Given the description of an element on the screen output the (x, y) to click on. 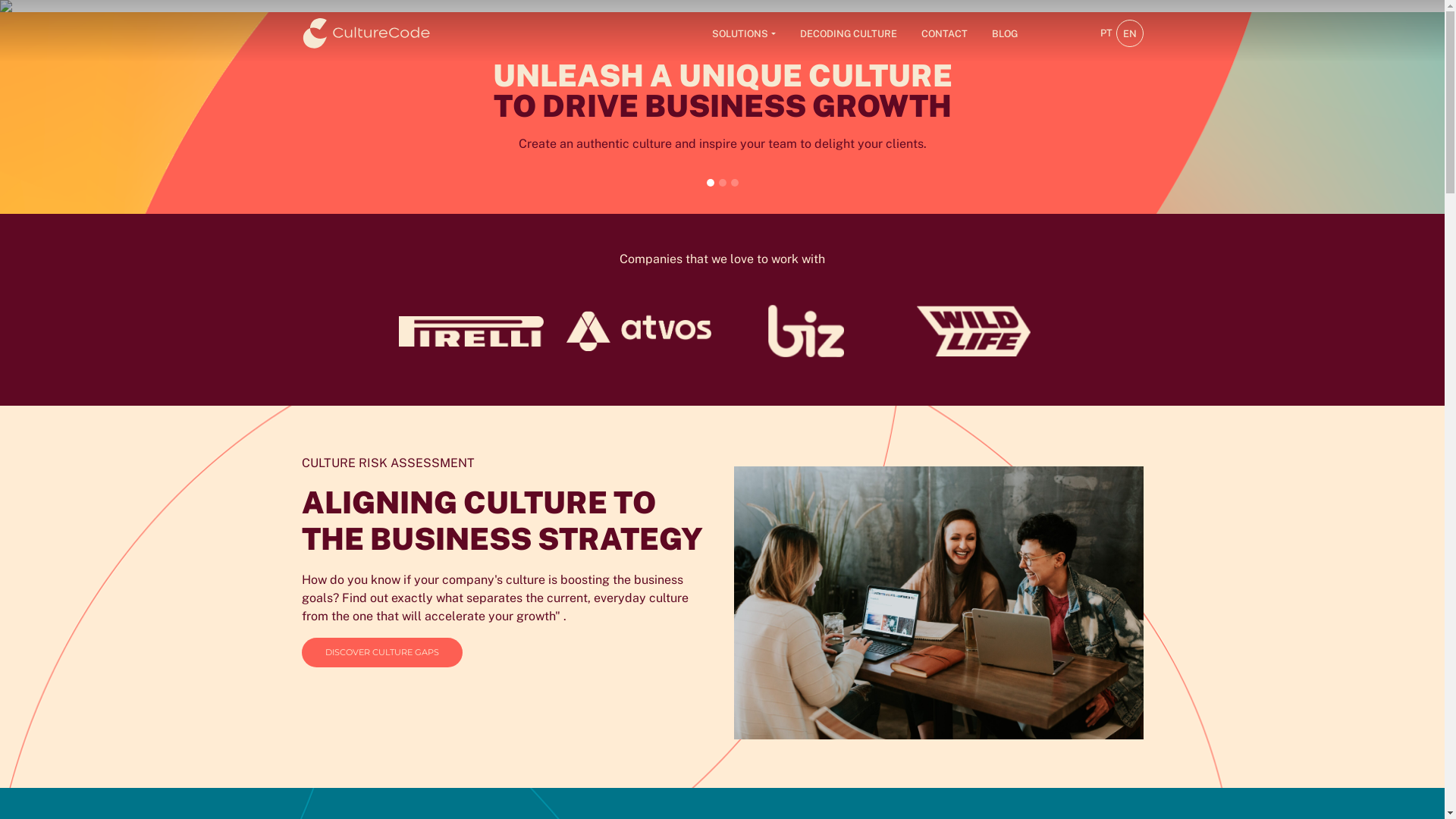
EN Element type: text (1128, 33)
CONTACT Element type: text (943, 33)
DECODING CULTURE Element type: text (847, 33)
DISCOVER CULTURE GAPS Element type: text (381, 652)
BLOG Element type: text (1004, 33)
PT Element type: text (1105, 32)
SOLUTIONS Element type: text (743, 33)
